Given the description of an element on the screen output the (x, y) to click on. 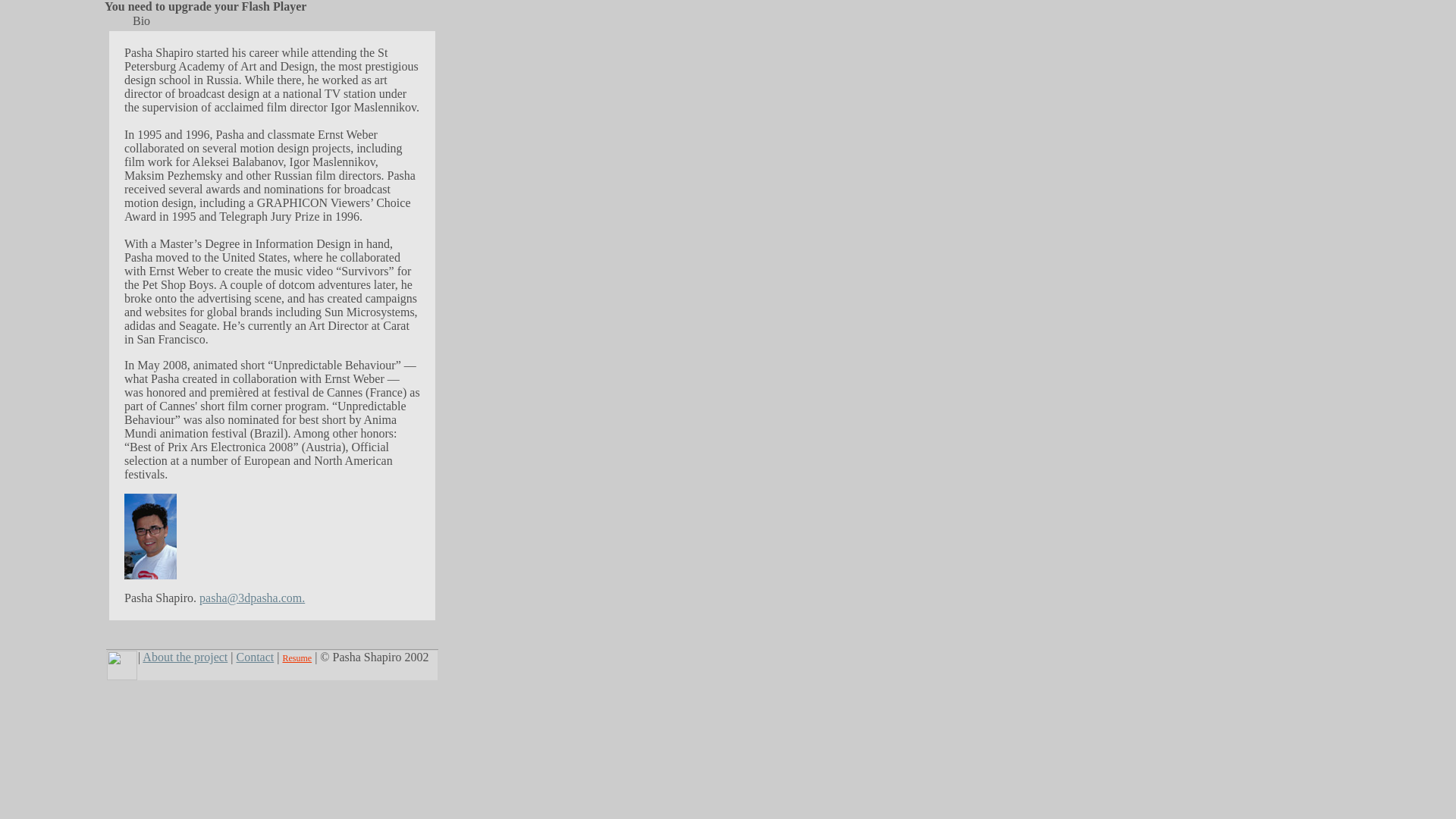
Resume Element type: text (296, 657)
About the project Element type: text (184, 656)
pasha@3dpasha.com. Element type: text (251, 597)
Contact Element type: text (255, 656)
